Given the description of an element on the screen output the (x, y) to click on. 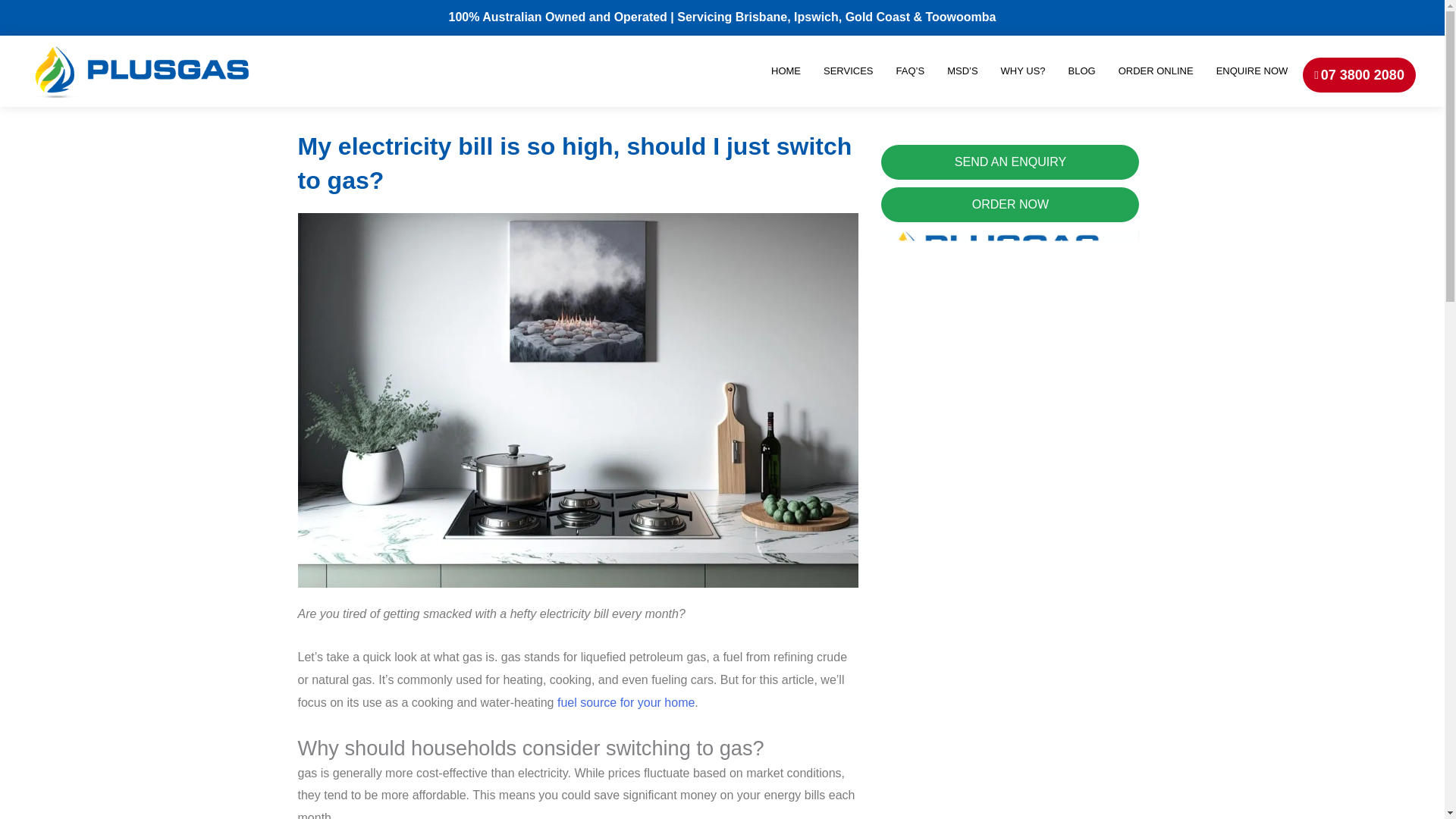
ENQUIRE NOW (1251, 70)
fuel source for your home (625, 702)
WHY US? (1022, 70)
ORDER ONLINE (1155, 70)
HOME (785, 70)
BLOG (1082, 70)
07 3800 2080 (1359, 74)
SERVICES (847, 70)
